Given the description of an element on the screen output the (x, y) to click on. 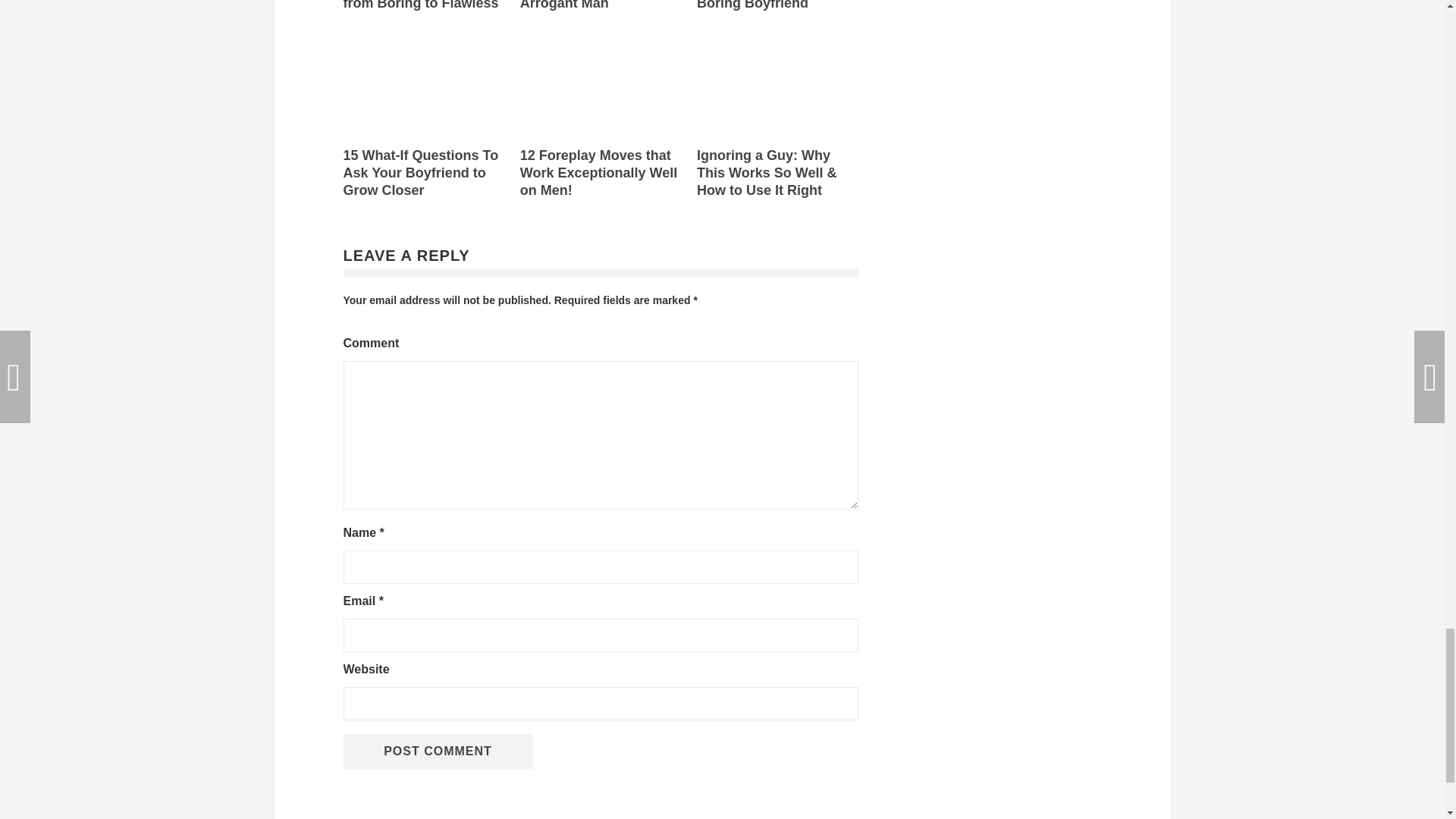
Post Comment (437, 751)
